Given the description of an element on the screen output the (x, y) to click on. 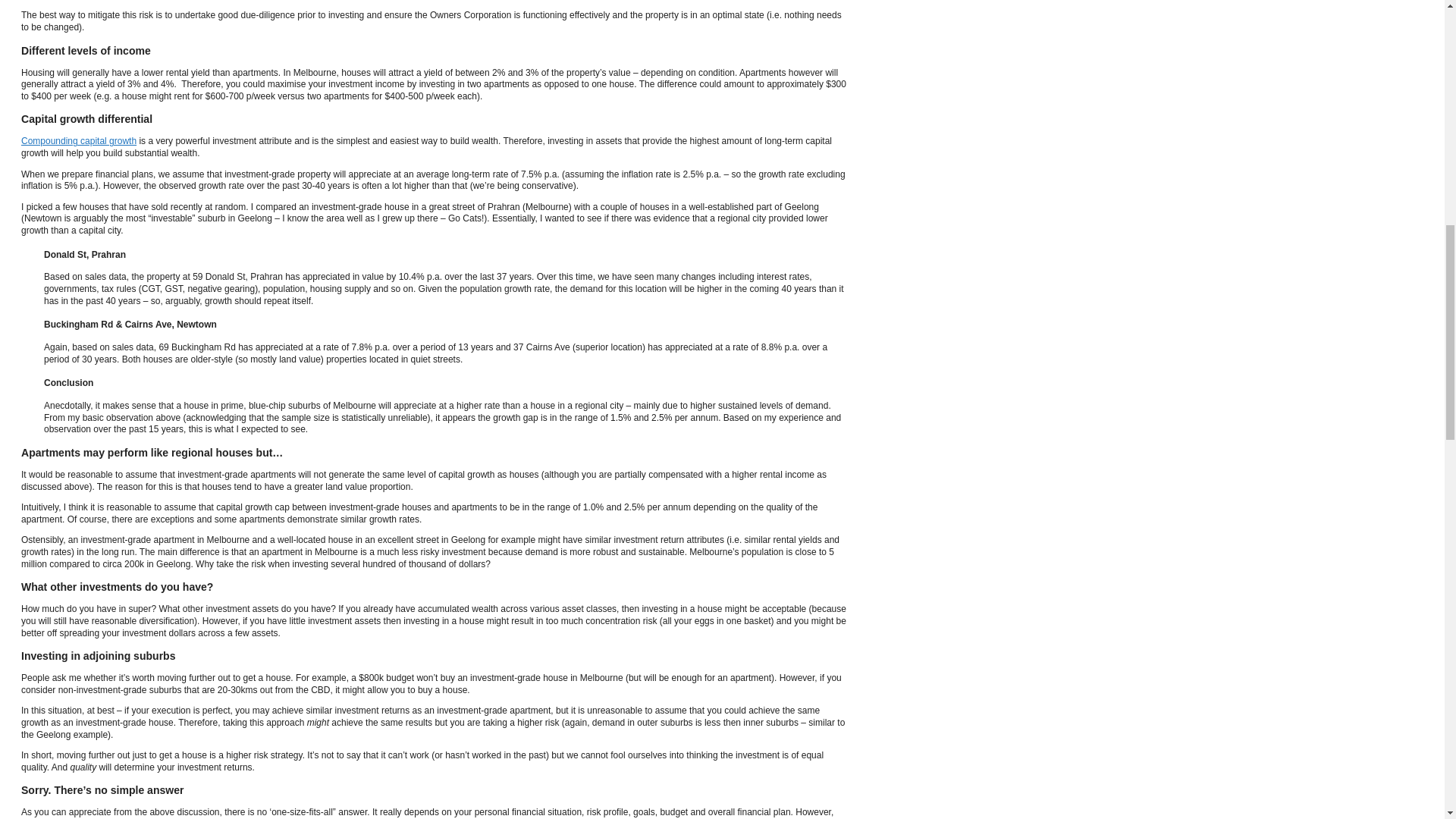
Compounding capital growth (78, 140)
